Given the description of an element on the screen output the (x, y) to click on. 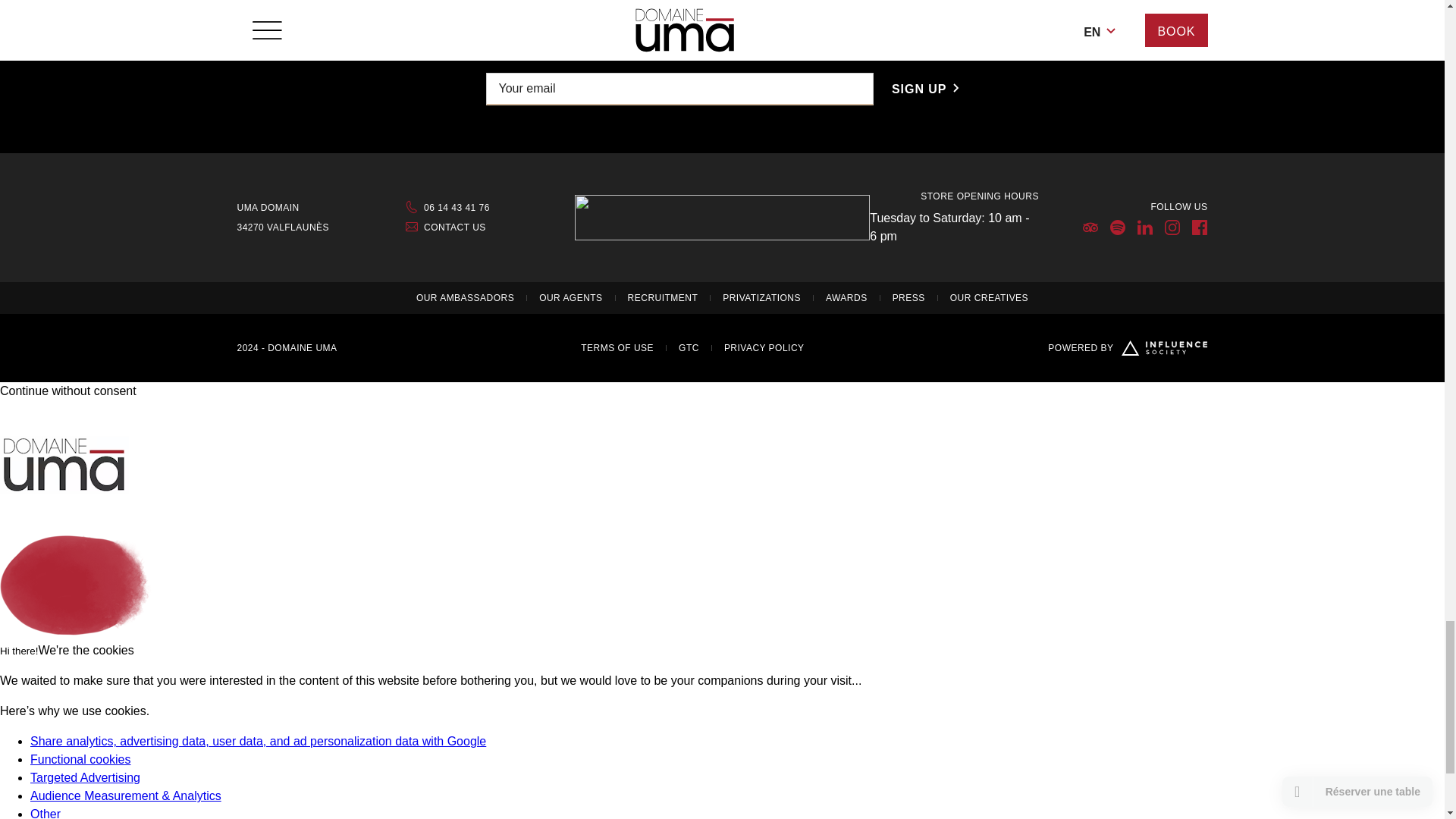
Sign up (925, 89)
CONTACT US (490, 227)
Sign up (925, 89)
TERMS OF USE (616, 347)
PRIVACY POLICY (764, 347)
OUR AGENTS (570, 297)
PRESS (908, 297)
PRIVATIZATIONS (761, 297)
POWERED BY (1127, 347)
OUR CREATIVES (988, 297)
AWARDS (846, 297)
GTC (688, 347)
06 14 43 41 76 (490, 207)
OUR AMBASSADORS (464, 297)
RECRUITMENT (662, 297)
